Given the description of an element on the screen output the (x, y) to click on. 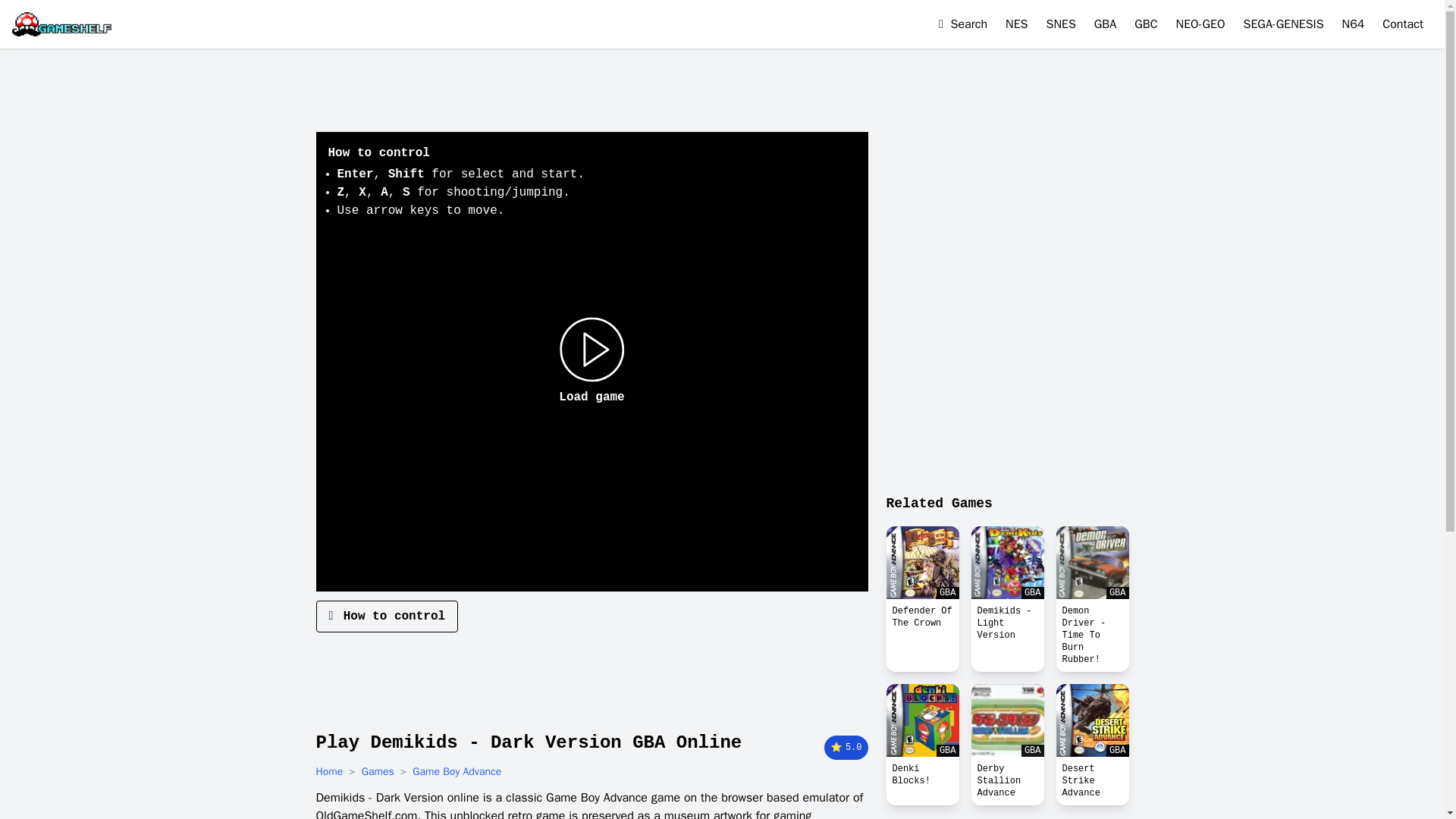
Defender Of The Crown (921, 616)
Games (377, 771)
SNES (1060, 23)
Neo Geo (1200, 23)
Demon Driver - Time To Burn Rubber! (1091, 634)
N64 (1353, 23)
Nintendo 64 (1353, 23)
Contact (1402, 24)
Derby Stallion Advance (1007, 780)
GBC (1145, 23)
